Given the description of an element on the screen output the (x, y) to click on. 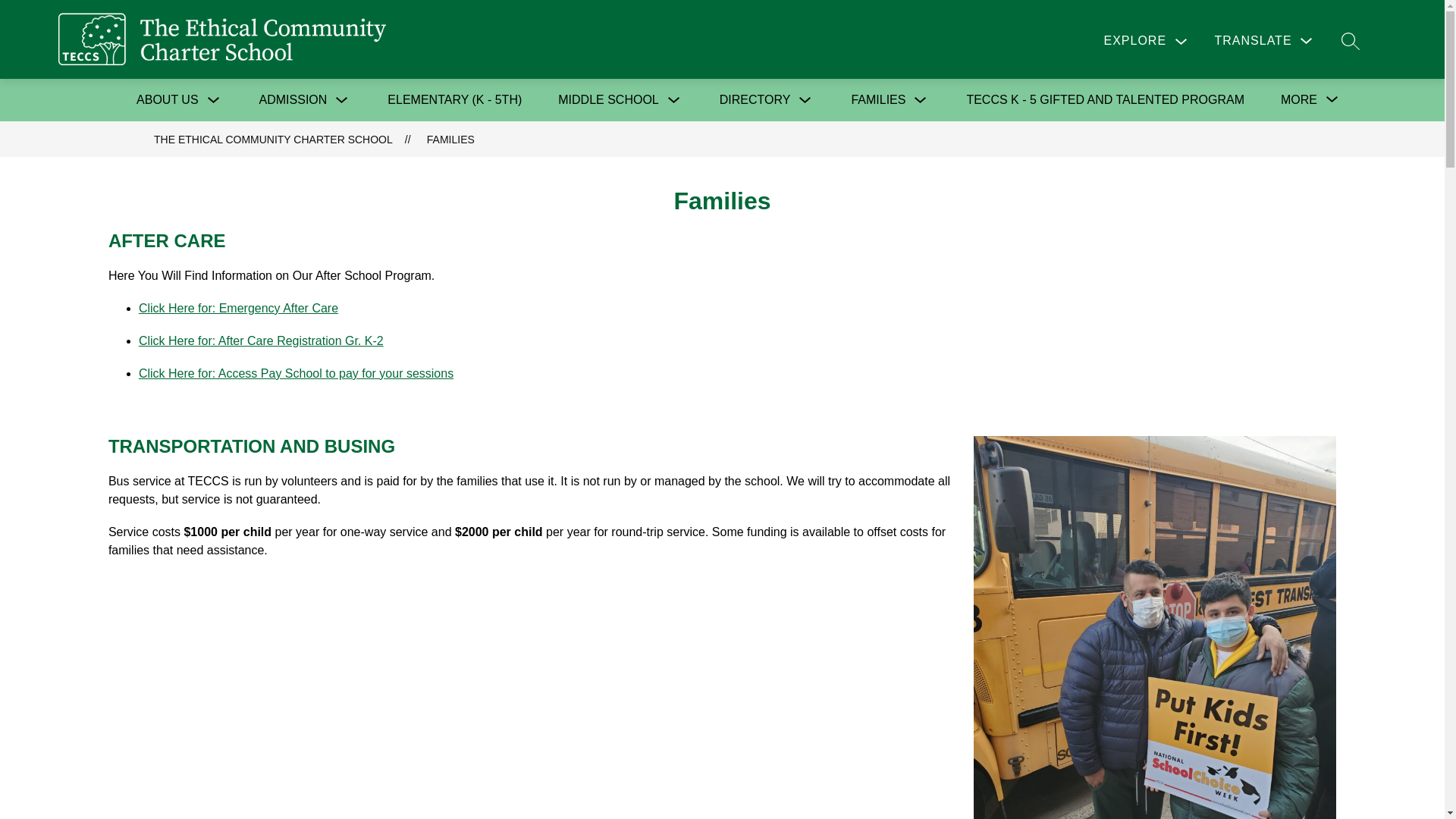
ADMISSION (293, 99)
ADMISSION (293, 99)
FAMILIES (877, 99)
MIDDLE SCHOOL (607, 99)
TRANSLATE (1265, 40)
Show submenu for About Us (213, 99)
DIRECTORY (754, 99)
Show submenu for Admission (341, 99)
FAMILIES (877, 99)
Show submenu for Middle School (673, 99)
